Given the description of an element on the screen output the (x, y) to click on. 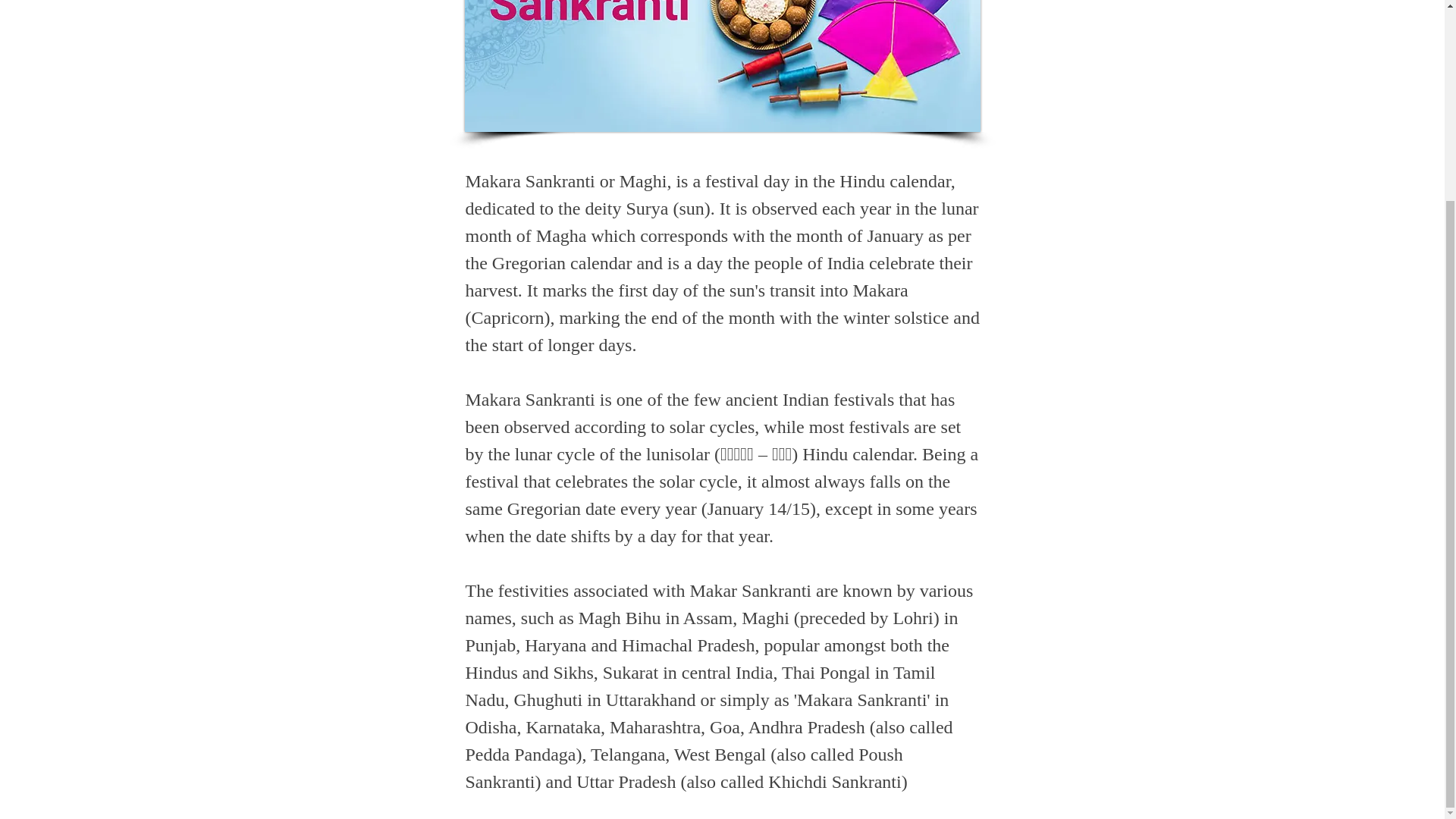
Makar Sankranti (721, 65)
